Given the description of an element on the screen output the (x, y) to click on. 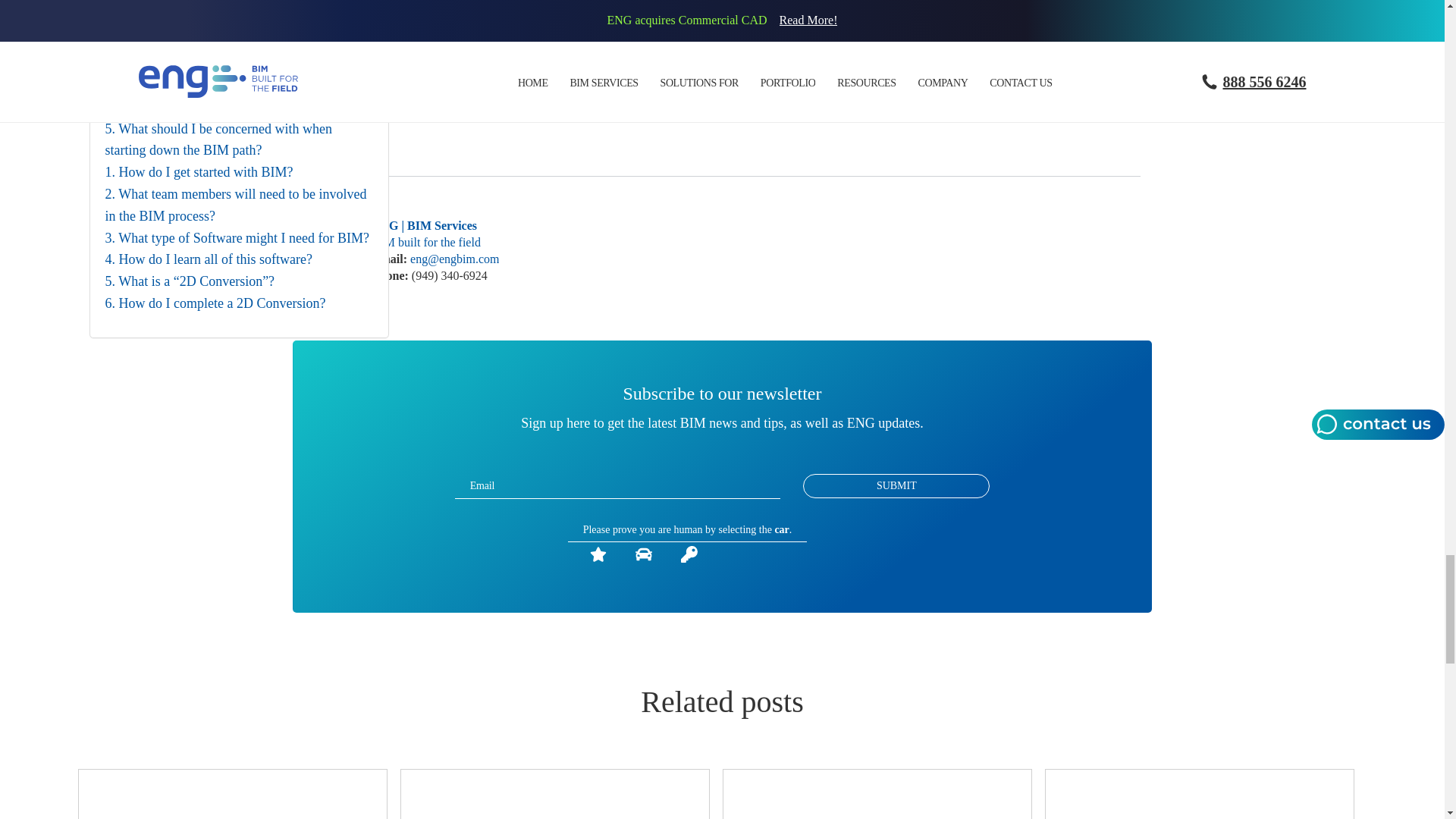
Submit (896, 485)
